Given the description of an element on the screen output the (x, y) to click on. 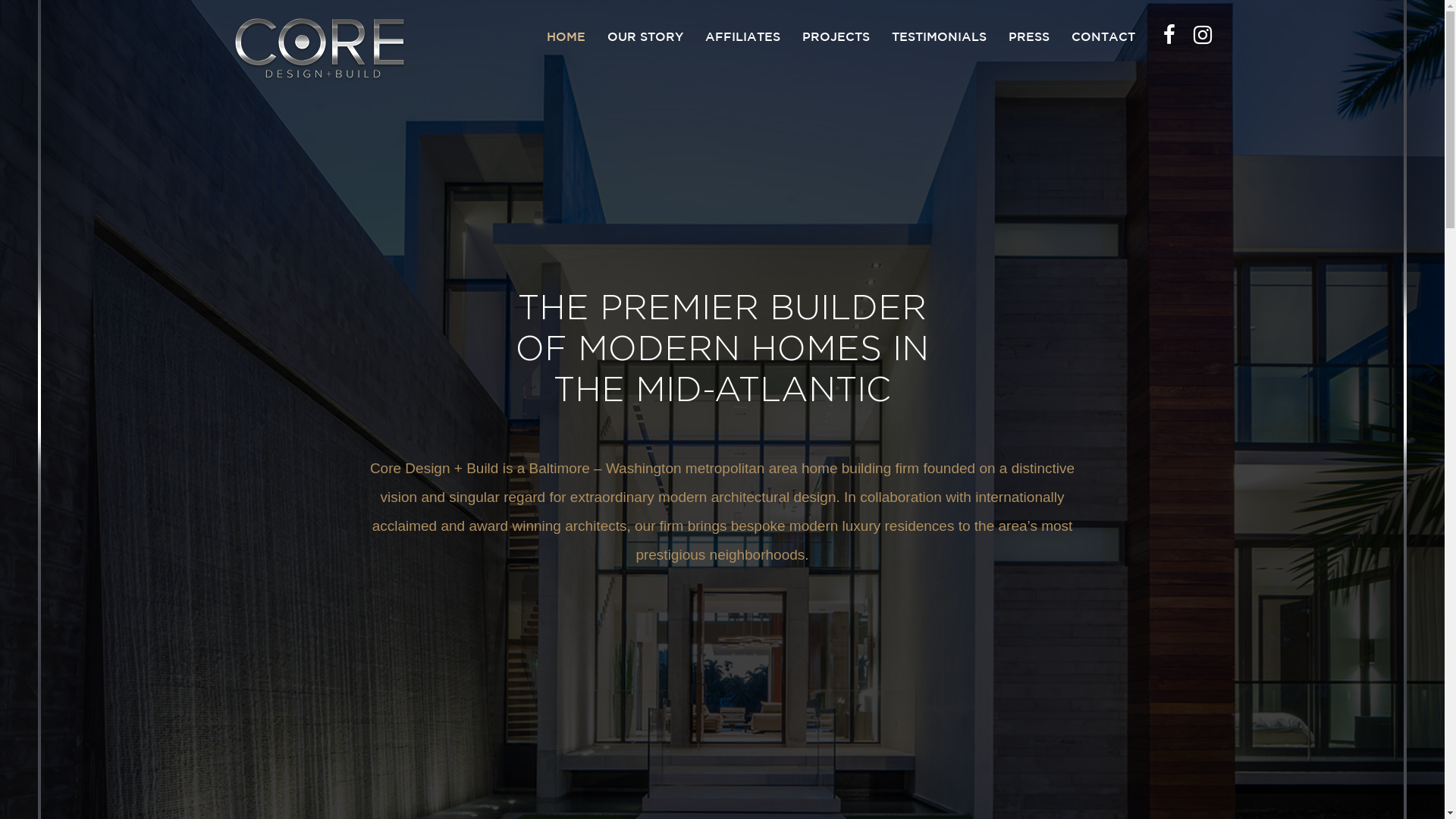
AFFILIATES Element type: text (742, 37)
CONTACT Element type: text (1103, 37)
HOME Element type: text (565, 37)
TESTIMONIALS Element type: text (938, 37)
OUR STORY Element type: text (645, 37)
PROJECTS Element type: text (835, 37)
PRESS Element type: text (1028, 37)
